Given the description of an element on the screen output the (x, y) to click on. 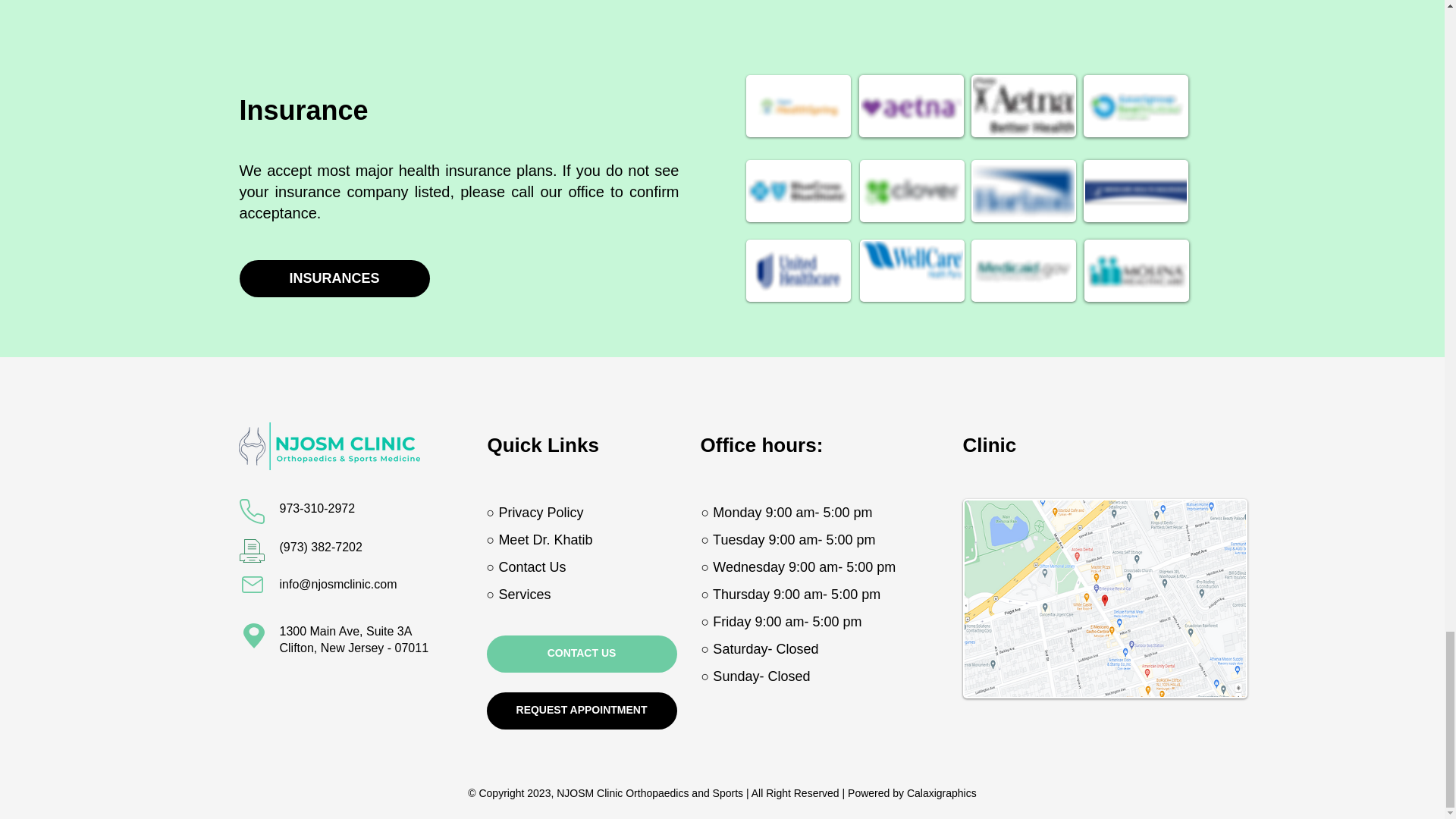
973-310-2972 (317, 508)
INSURANCES (334, 278)
Original on Transparent.png (328, 446)
